Given the description of an element on the screen output the (x, y) to click on. 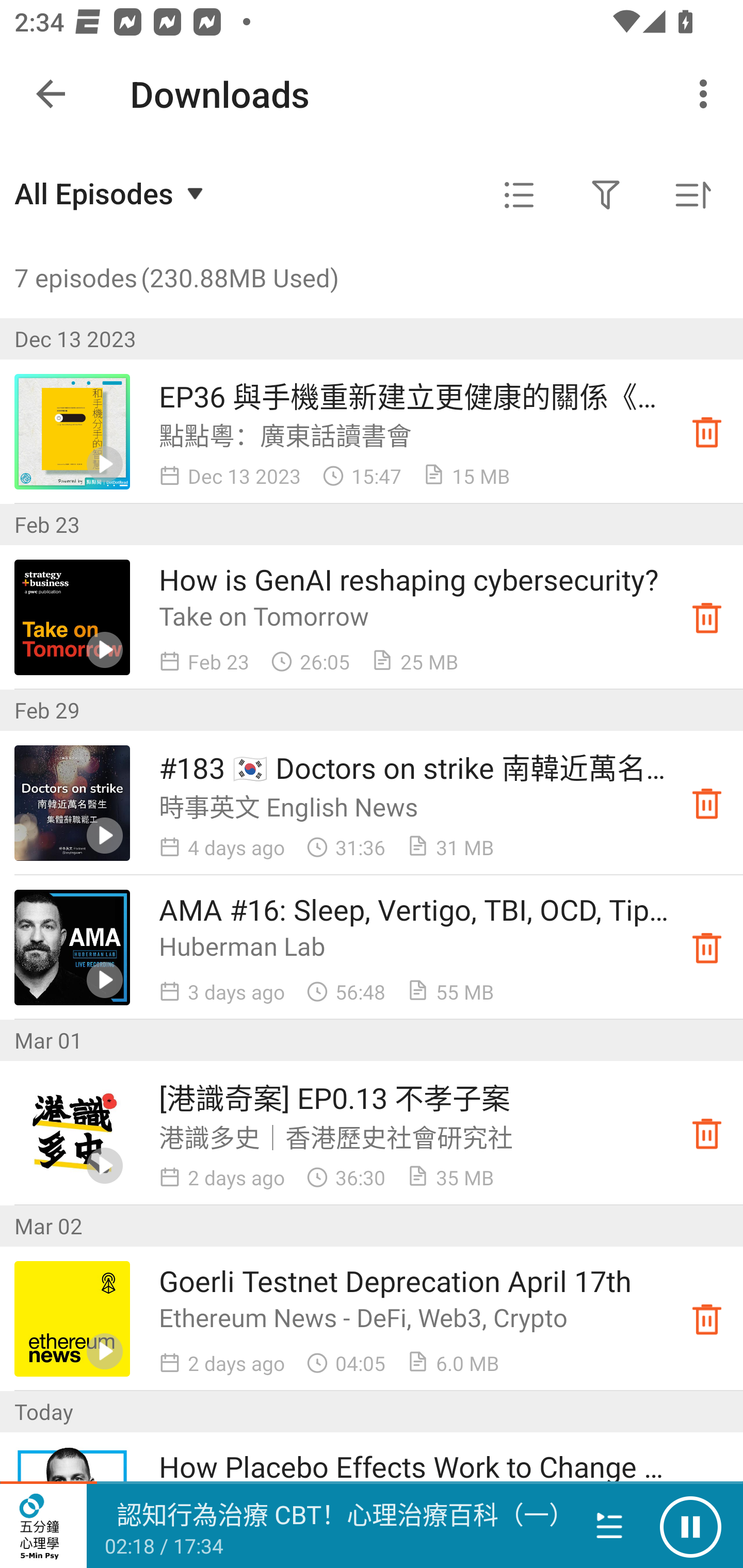
Navigate up (50, 93)
More options (706, 93)
All Episodes (111, 192)
 (518, 195)
 (605, 195)
 Sorted by oldest first (692, 195)
Downloaded (706, 431)
Downloaded (706, 617)
Downloaded (706, 802)
Downloaded (706, 947)
Downloaded (706, 1133)
Downloaded (706, 1318)
Pause (690, 1526)
